Given the description of an element on the screen output the (x, y) to click on. 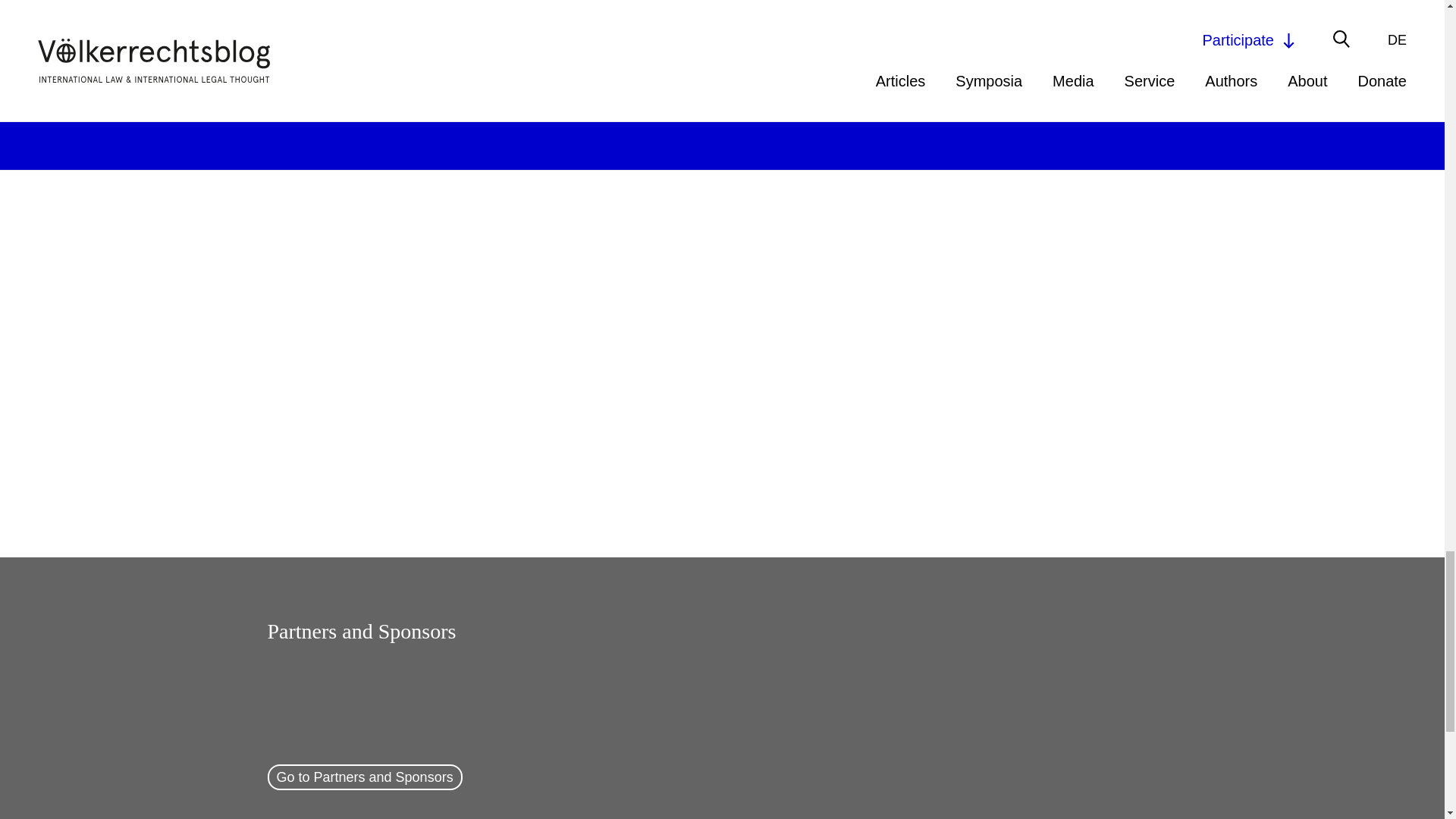
Post Comment (320, 95)
